Given the description of an element on the screen output the (x, y) to click on. 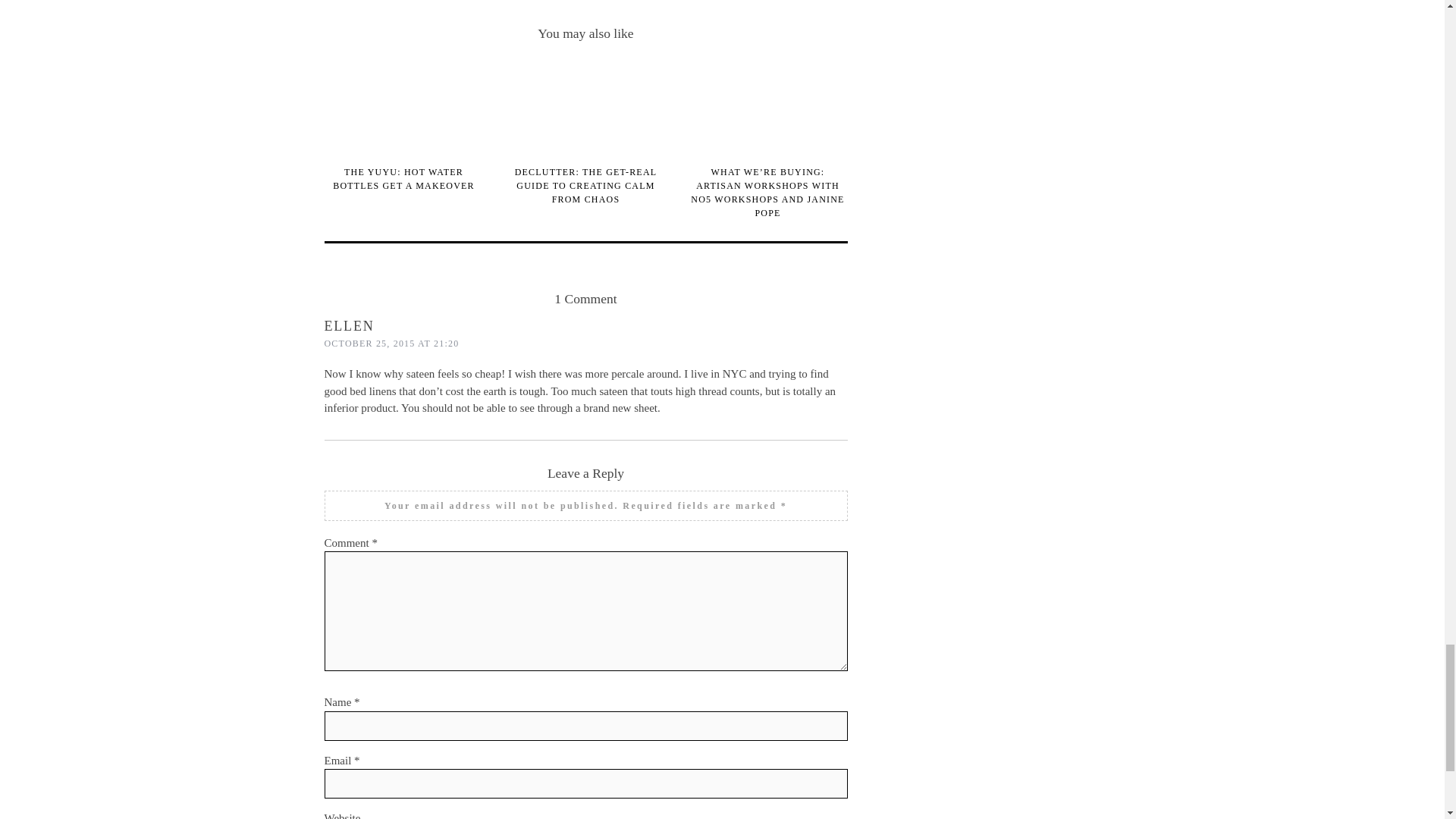
DECLUTTER: THE GET-REAL GUIDE TO CREATING CALM FROM CHAOS (586, 185)
THE YUYU: HOT WATER BOTTLES GET A MAKEOVER (403, 178)
